Given the description of an element on the screen output the (x, y) to click on. 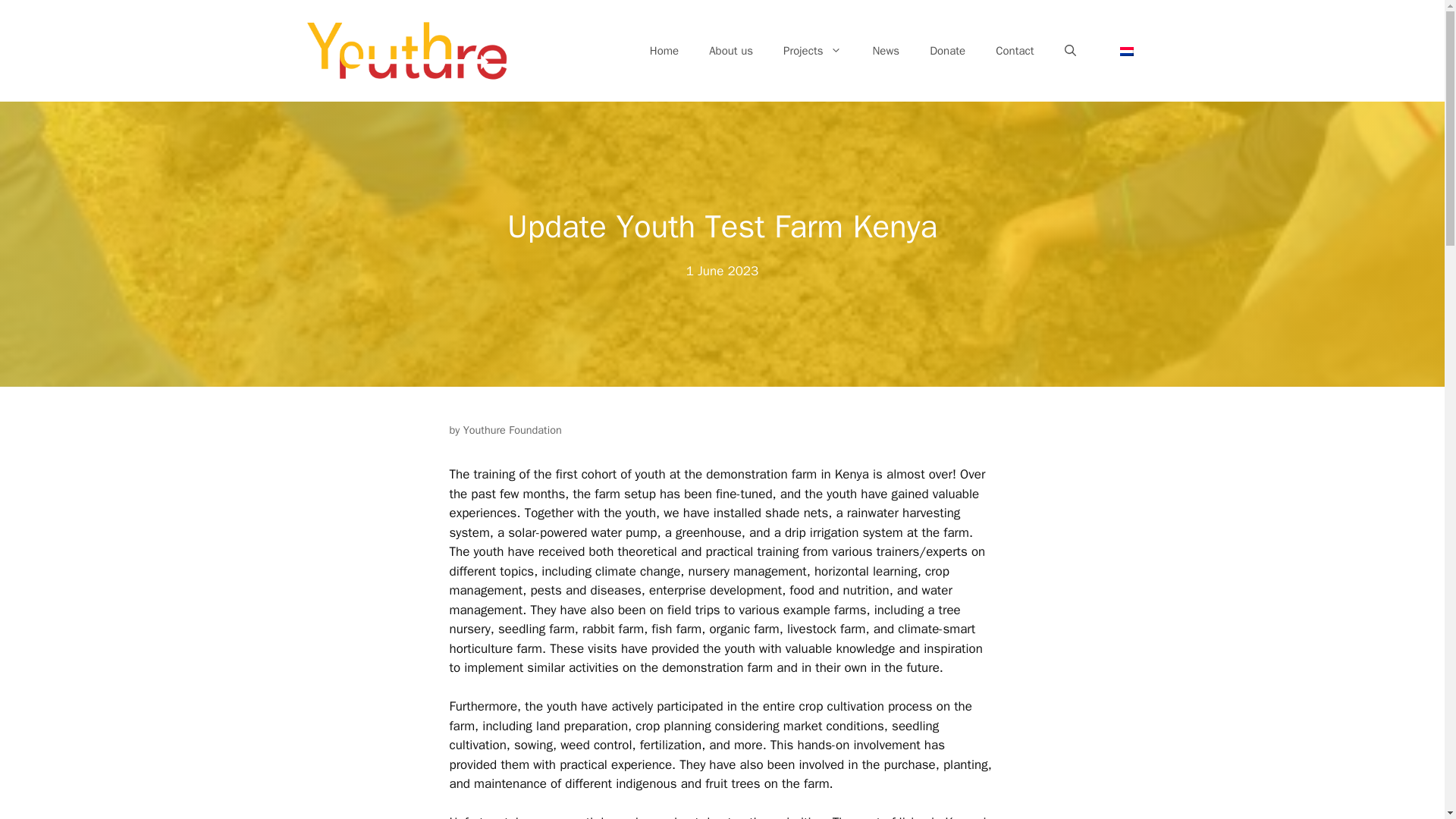
Donate (946, 50)
Home (664, 50)
Contact (1013, 50)
Projects (812, 50)
Youthure (406, 50)
Youthure Foundation (512, 429)
Youthure (406, 50)
About us (731, 50)
View all posts by Youthure Foundation (512, 429)
News (885, 50)
